Given the description of an element on the screen output the (x, y) to click on. 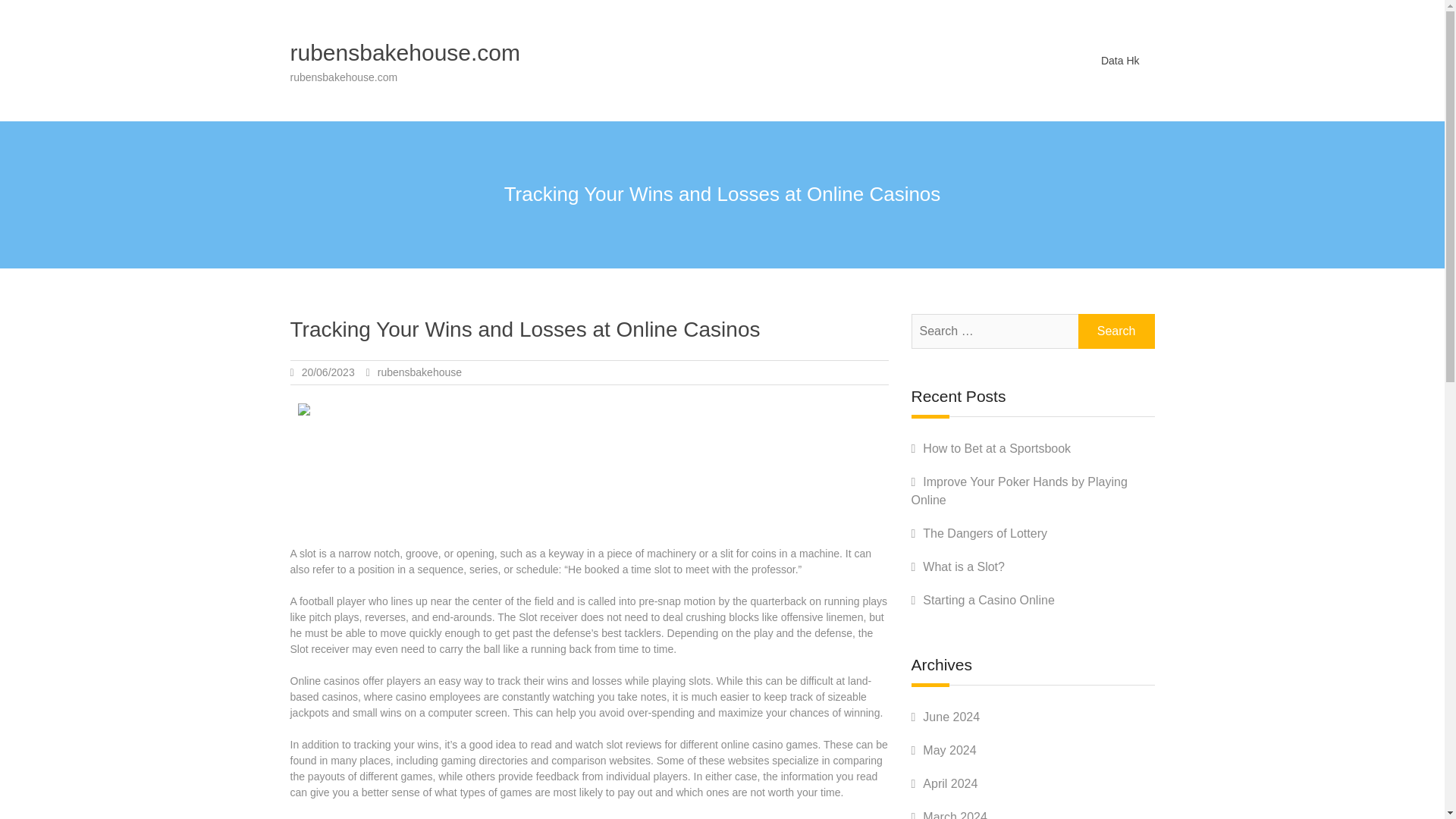
How to Bet at a Sportsbook (996, 448)
Search (1116, 330)
Data Hk (1120, 59)
March 2024 (955, 814)
What is a Slot? (963, 566)
Search (1116, 330)
May 2024 (949, 749)
rubensbakehouse.com (404, 52)
Starting a Casino Online (988, 599)
April 2024 (949, 783)
